Given the description of an element on the screen output the (x, y) to click on. 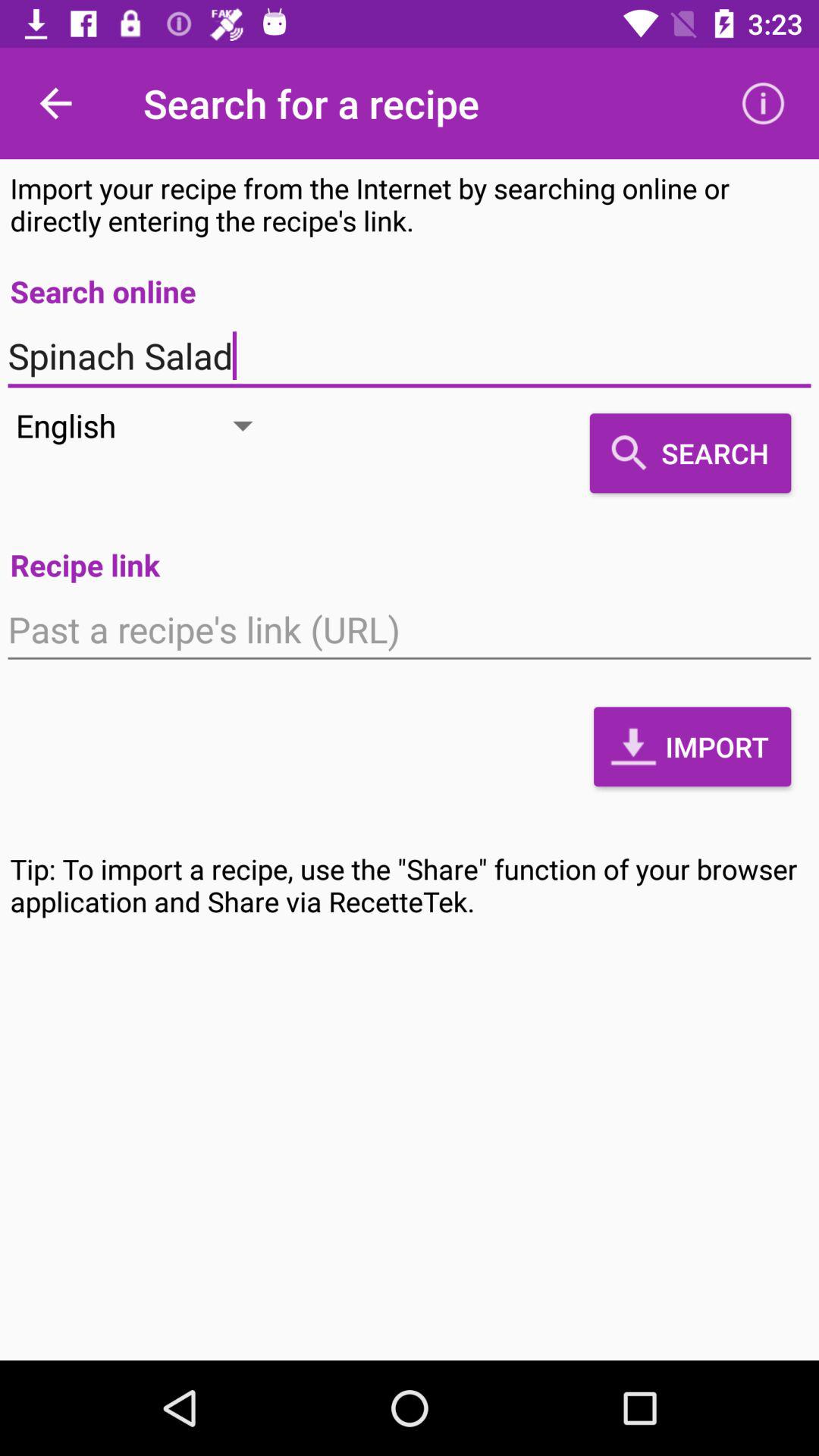
press the item above import your recipe item (55, 103)
